Given the description of an element on the screen output the (x, y) to click on. 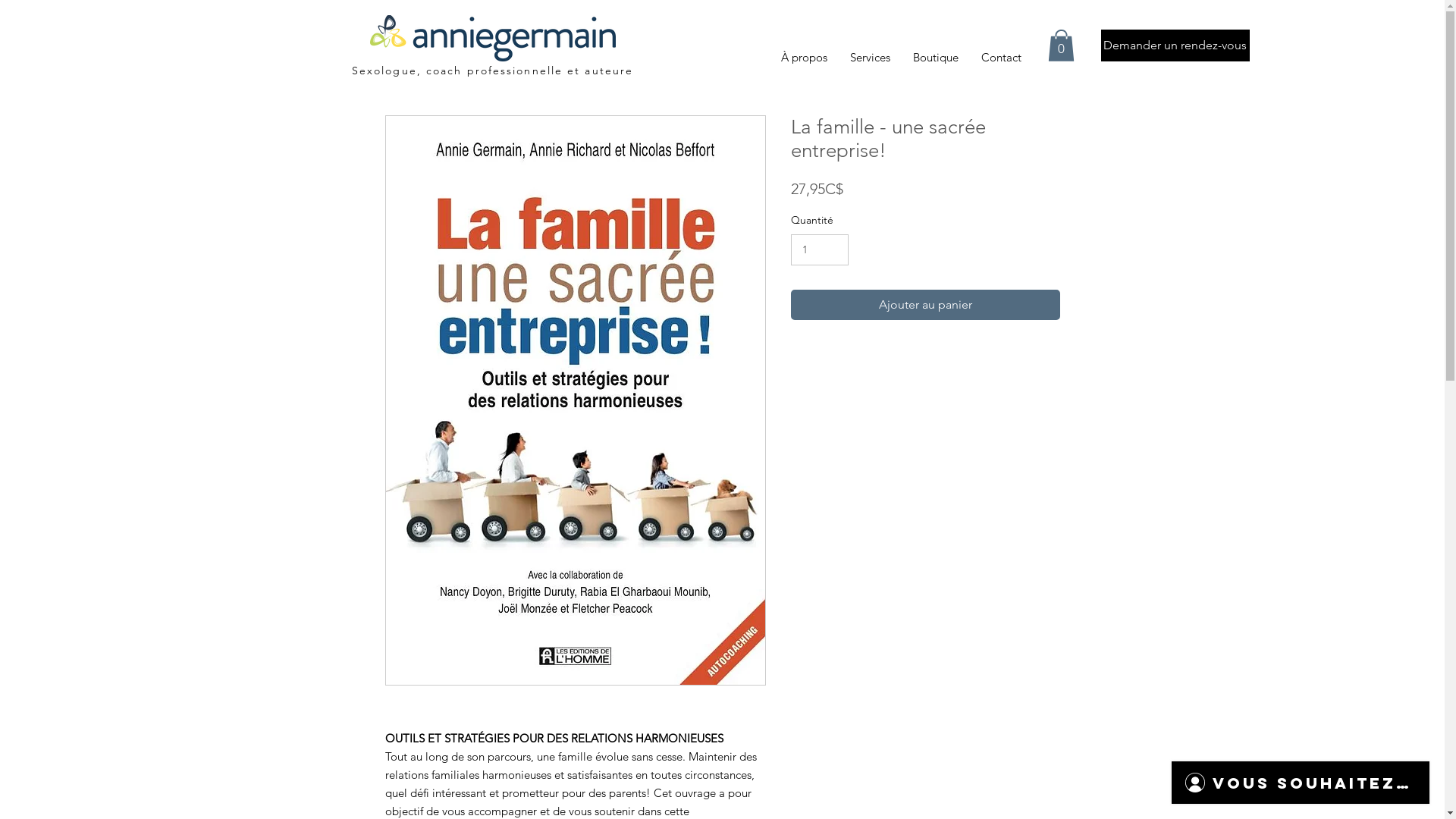
Ajouter au panier Element type: text (924, 304)
0 Element type: text (1061, 45)
Sexologue, coach professionnelle et auteure Element type: text (492, 70)
Boutique Element type: text (934, 57)
Demander un rendez-vous Element type: text (1175, 45)
Services Element type: text (869, 57)
Contact Element type: text (1000, 57)
